Given the description of an element on the screen output the (x, y) to click on. 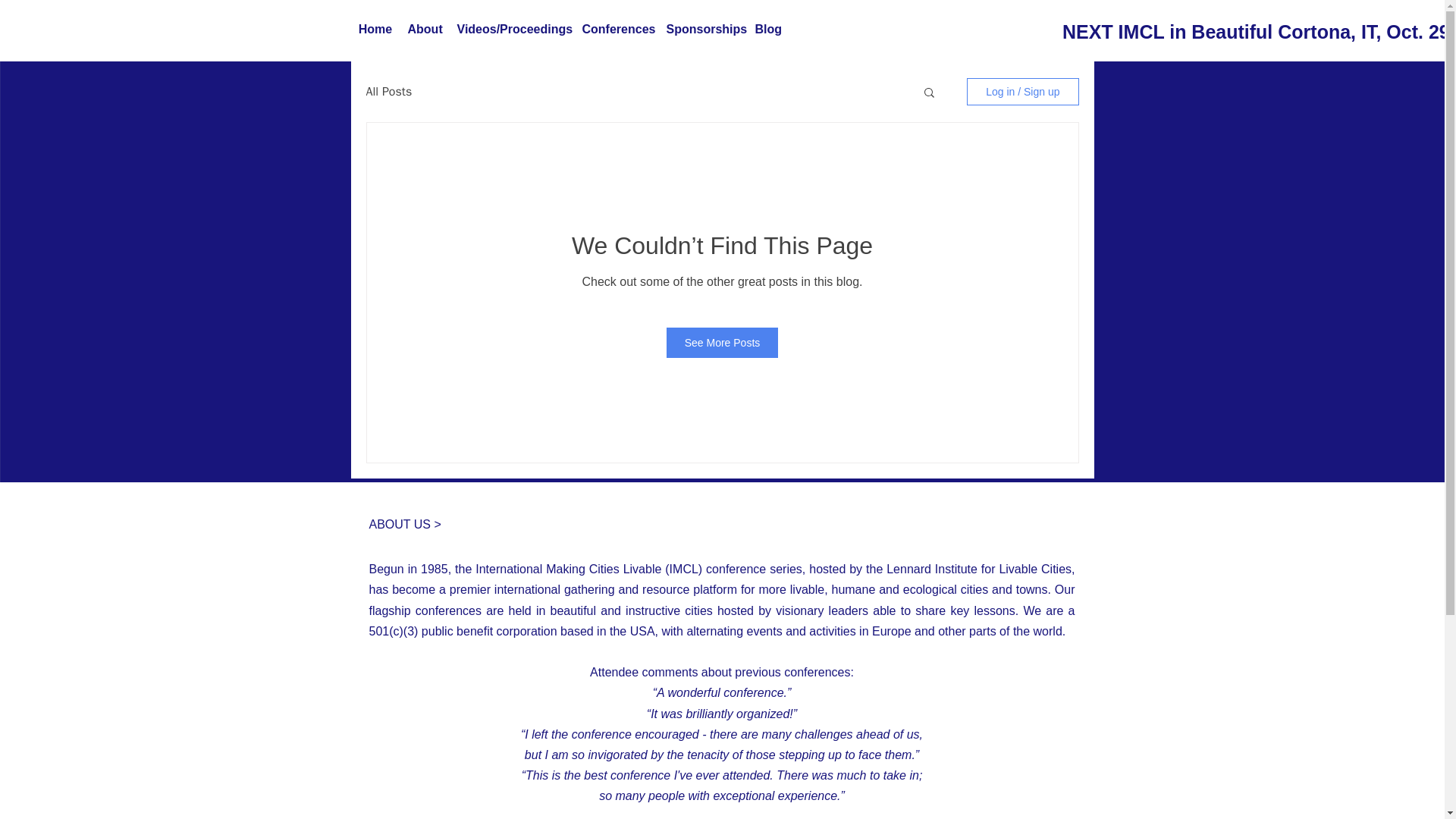
About (424, 29)
Sponsorships (702, 29)
Blog (768, 29)
Home (374, 29)
Conferences (617, 29)
All Posts (388, 91)
See More Posts (722, 342)
